Given the description of an element on the screen output the (x, y) to click on. 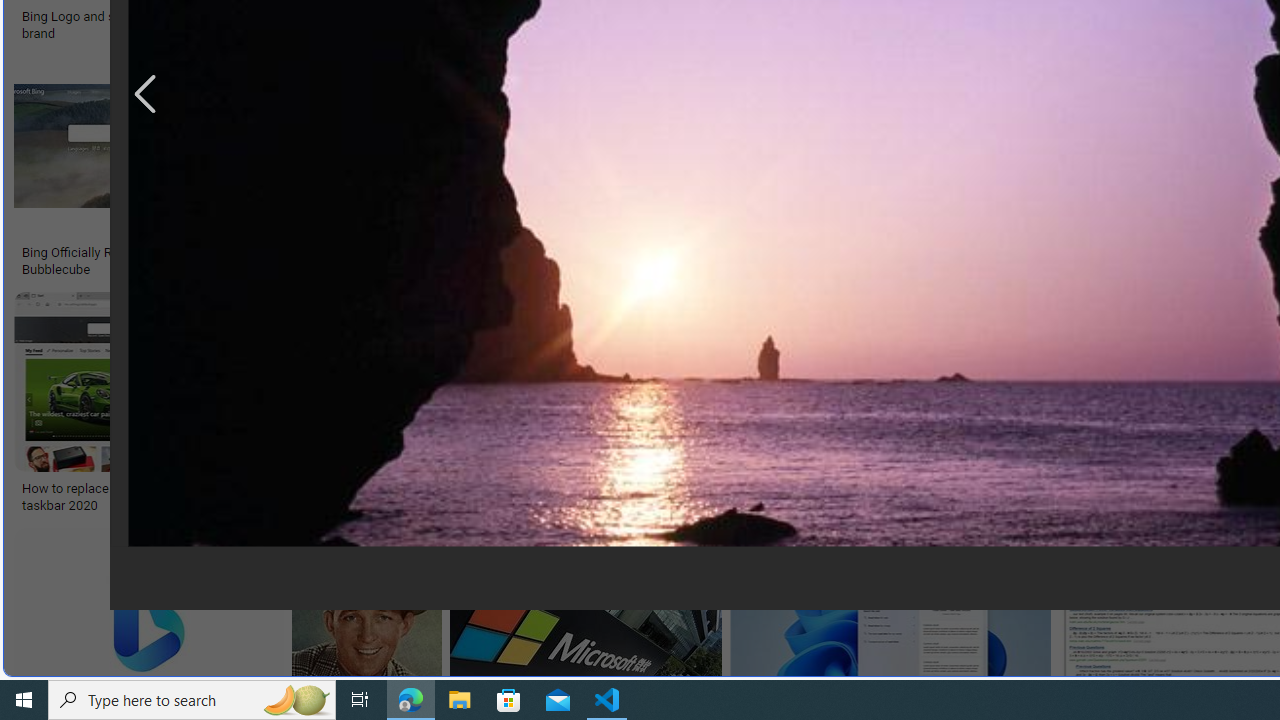
Bing - SEOLend (489, 253)
Bing Logo and symbol, meaning, history, PNG, brand (170, 24)
